Given the description of an element on the screen output the (x, y) to click on. 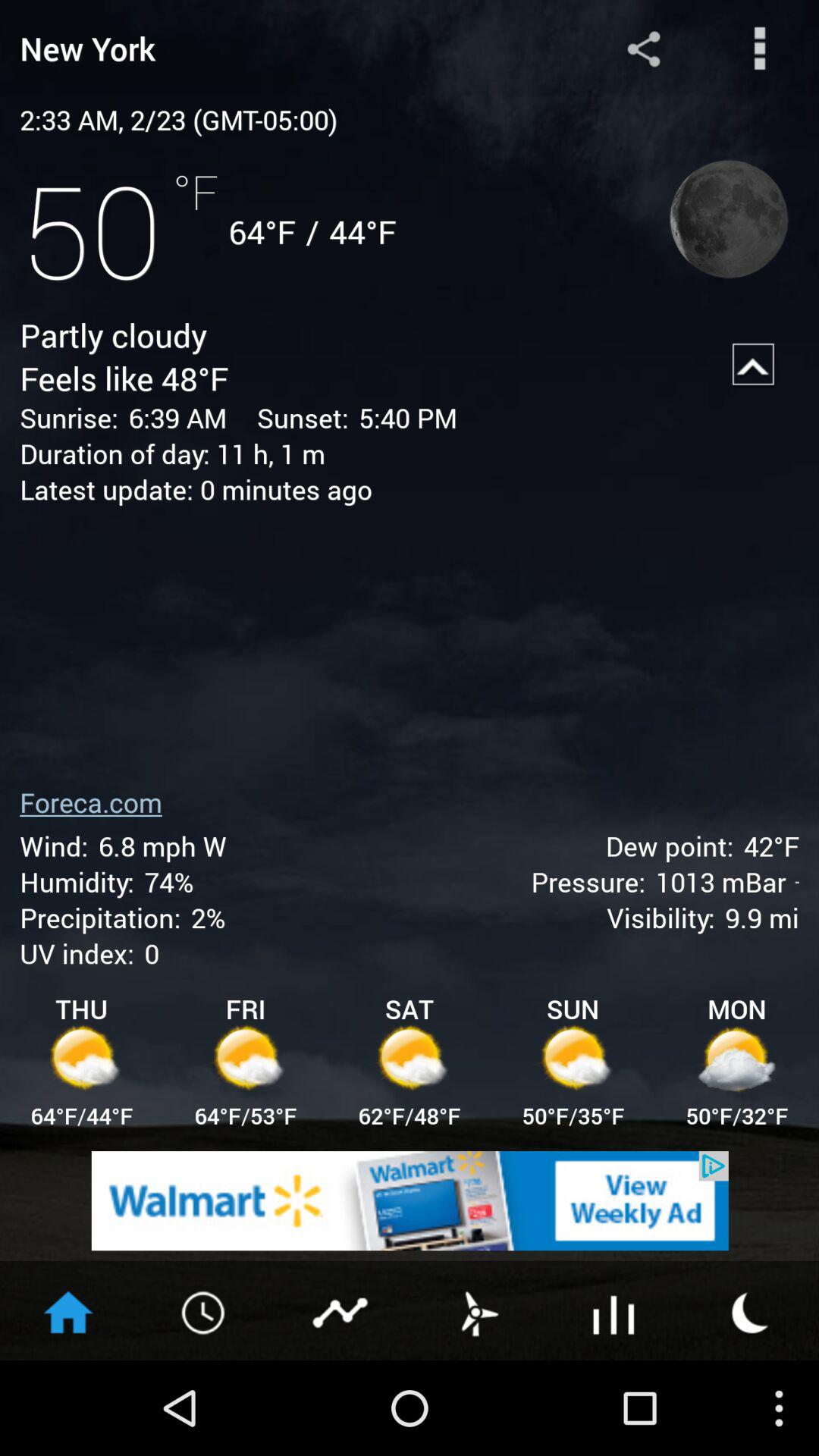
advertising bar (409, 1200)
